Given the description of an element on the screen output the (x, y) to click on. 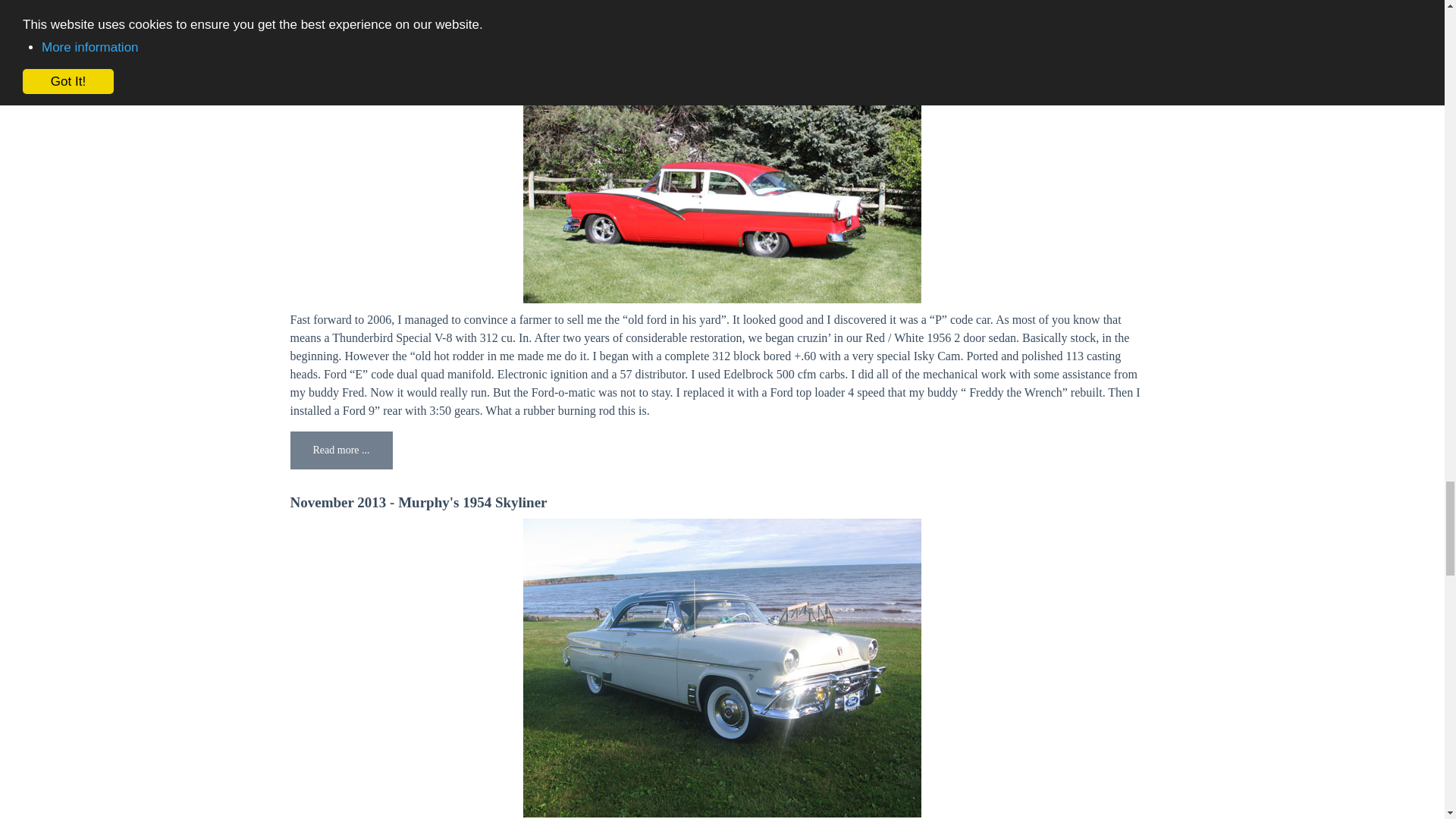
Read more ... (340, 450)
November 2013 - Murphy's 1954 Skyliner (418, 502)
December 2013 - Rowe's 1956 Ford Fairlane (425, 5)
